Given the description of an element on the screen output the (x, y) to click on. 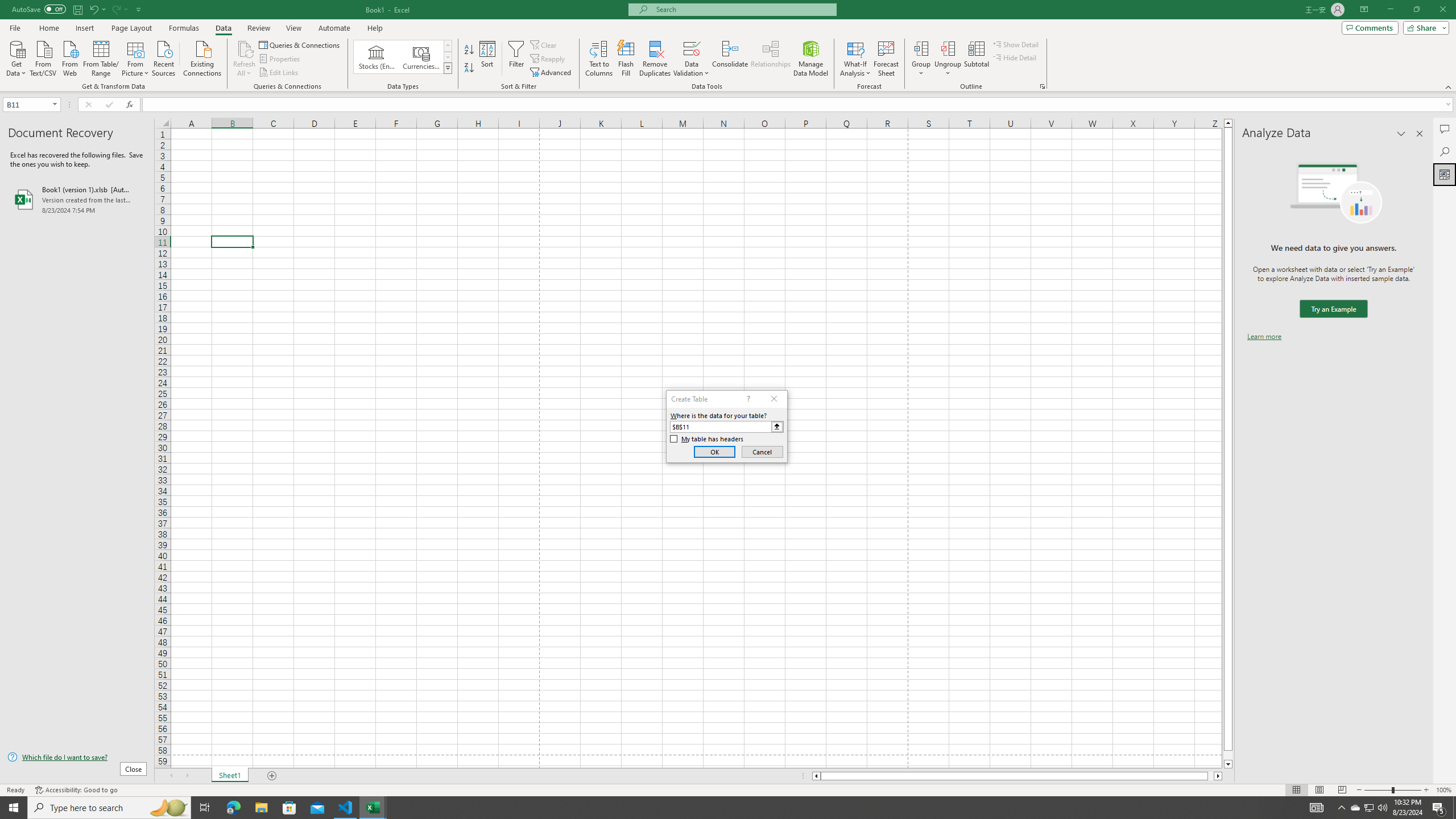
Manage Data Model (810, 58)
Row Down (448, 56)
Sort Z to A (469, 67)
From Picture (135, 57)
Clear (544, 44)
